Given the description of an element on the screen output the (x, y) to click on. 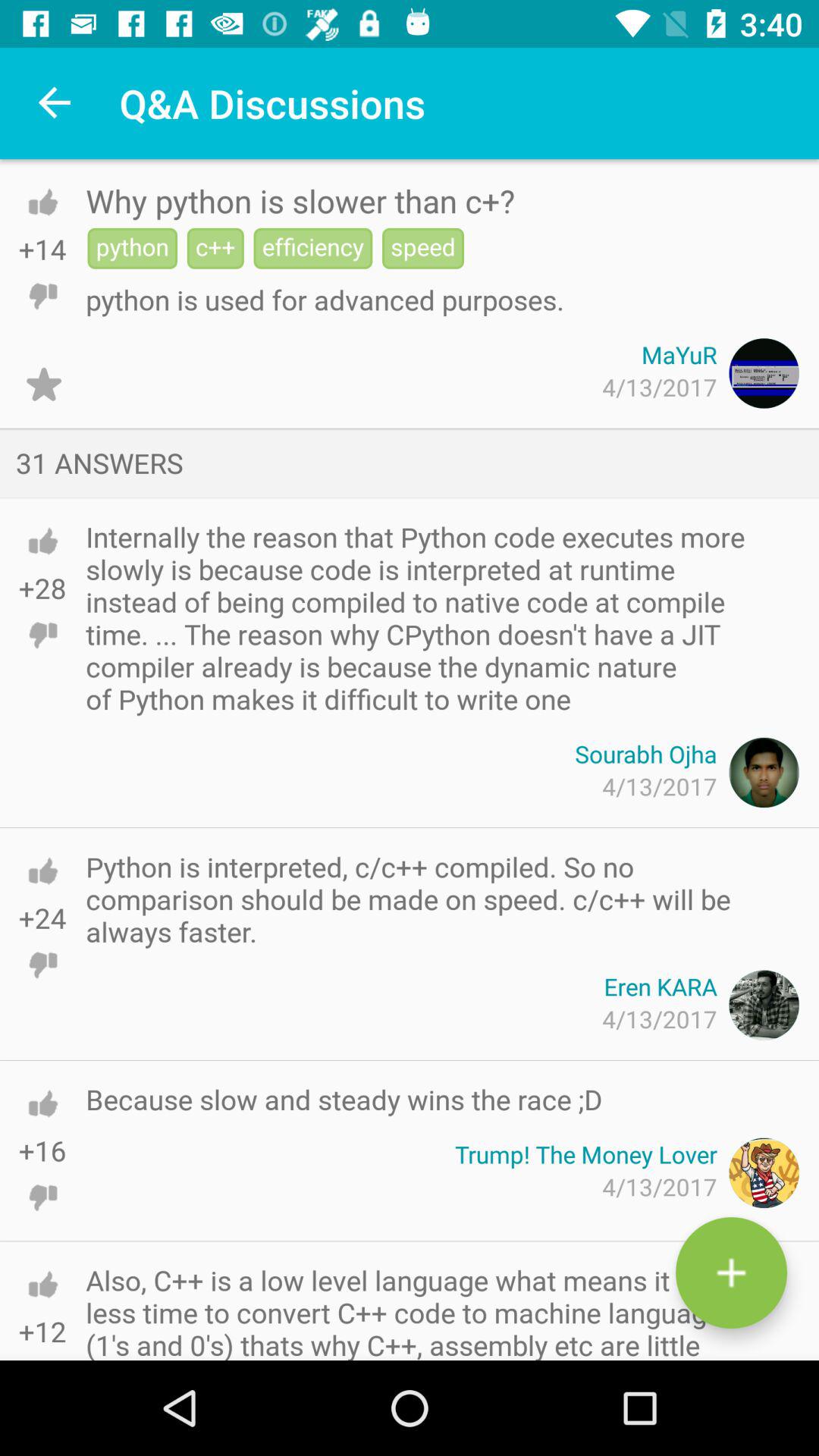
turn on the item next to q&a discussions (55, 103)
